Given the description of an element on the screen output the (x, y) to click on. 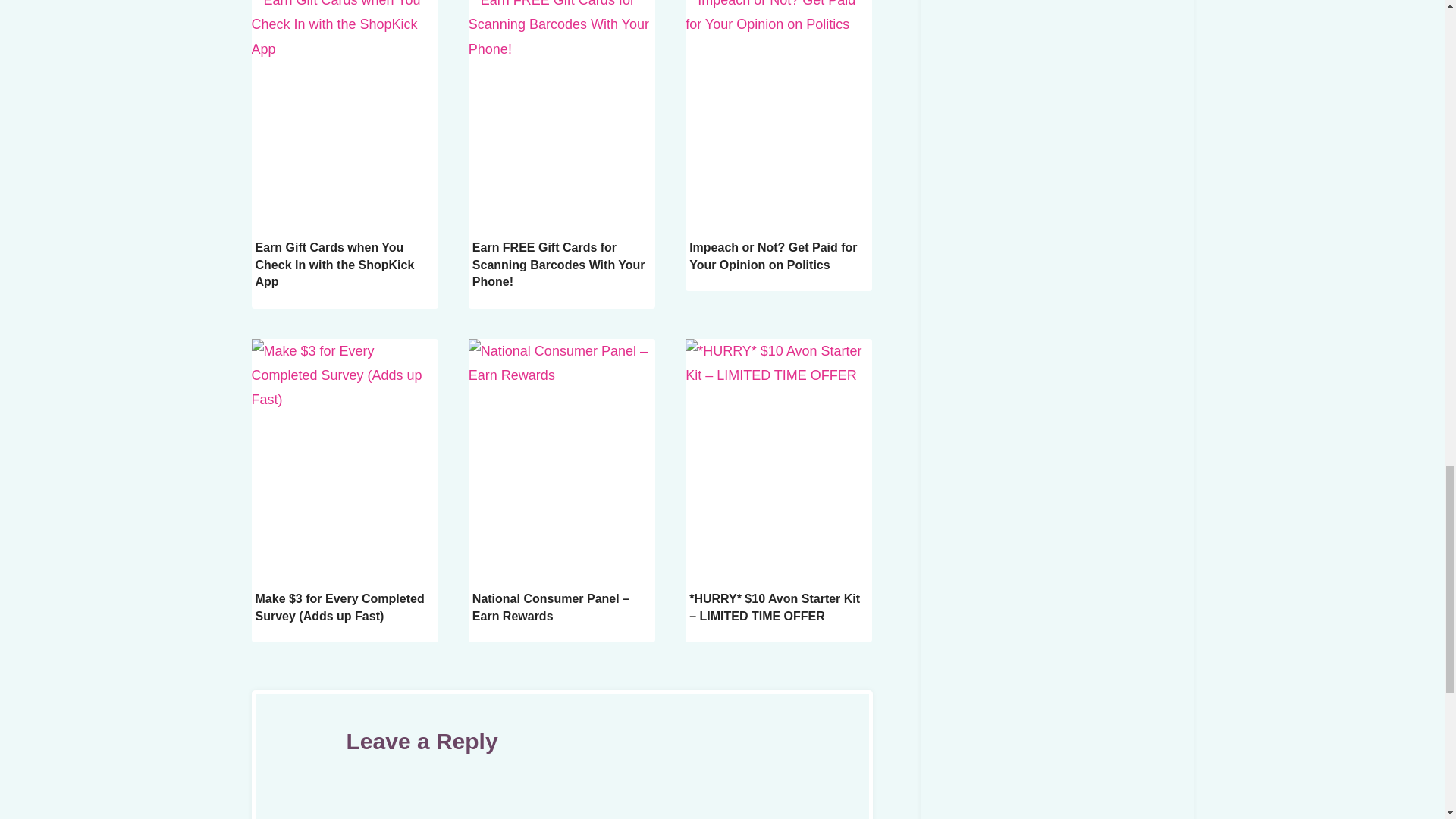
Comment Form (561, 805)
